Given the description of an element on the screen output the (x, y) to click on. 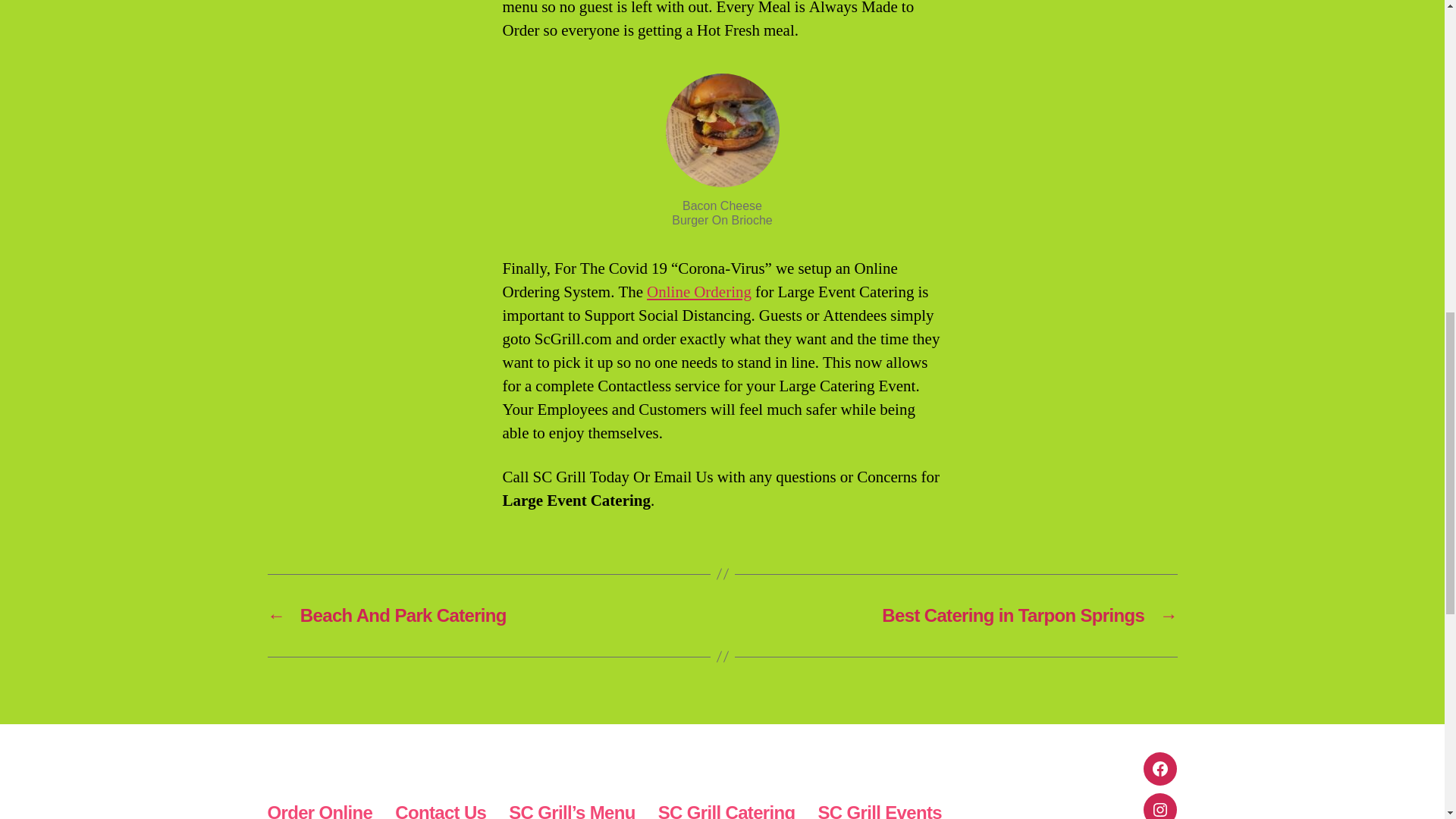
Online Ordering (698, 291)
SC Grill Catering (726, 810)
Order Online (319, 810)
SC Grill Events (880, 810)
Contact Us (440, 810)
